Given the description of an element on the screen output the (x, y) to click on. 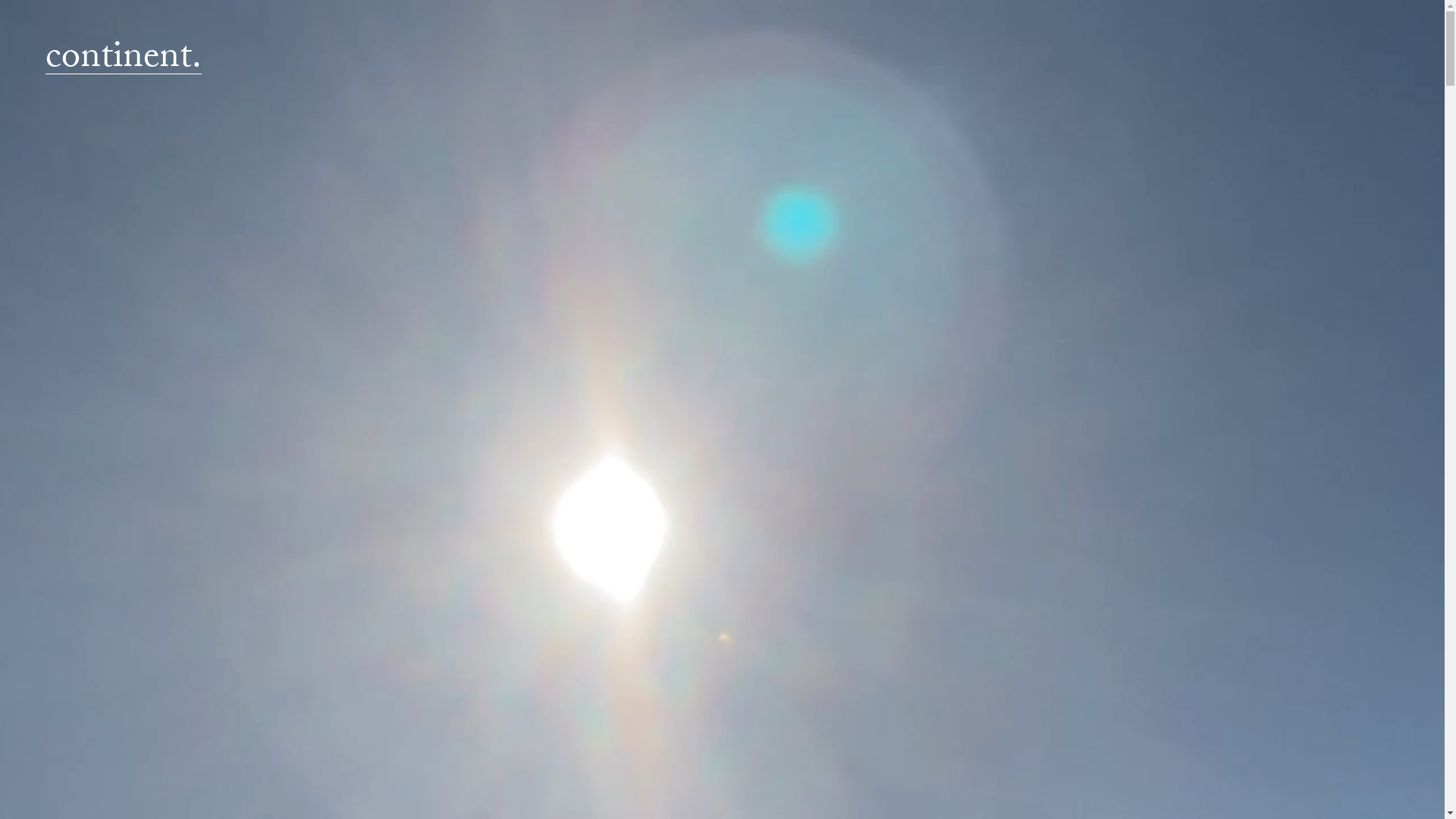
continent. Element type: text (123, 60)
